Given the description of an element on the screen output the (x, y) to click on. 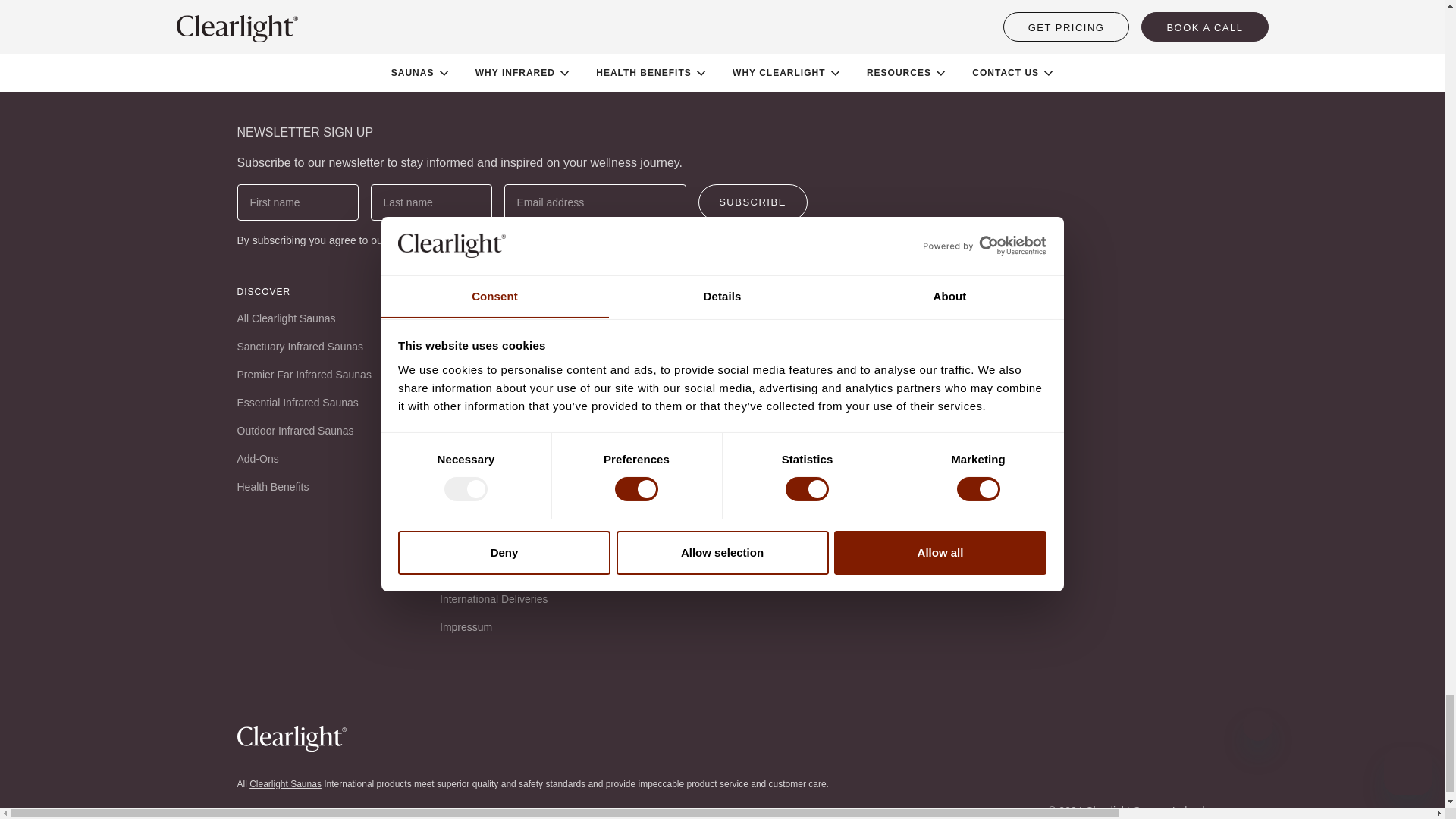
subscribe (751, 202)
